Given the description of an element on the screen output the (x, y) to click on. 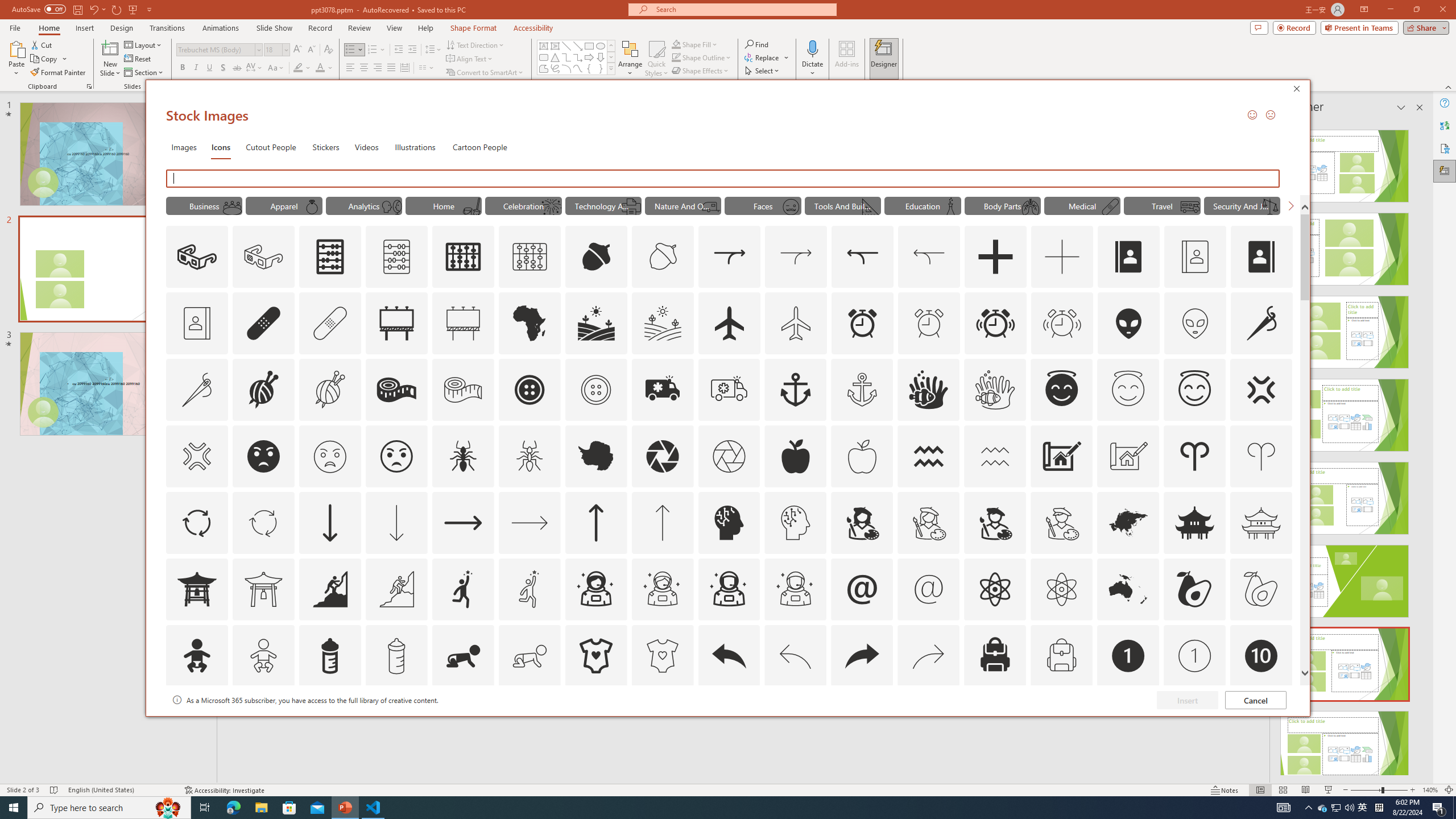
AutomationID: Icons_ArtistFemale_M (928, 522)
Running applications (700, 807)
Increase Font Size (297, 49)
Images (183, 146)
AutomationID: Icons_AsianTemple (1194, 522)
AutomationID: Icons_Baby_M (263, 655)
AutomationID: Icons_At_M (928, 588)
AutomationID: Icons_At (861, 588)
AutomationID: Icons_AstronautFemale_M (662, 588)
